Given the description of an element on the screen output the (x, y) to click on. 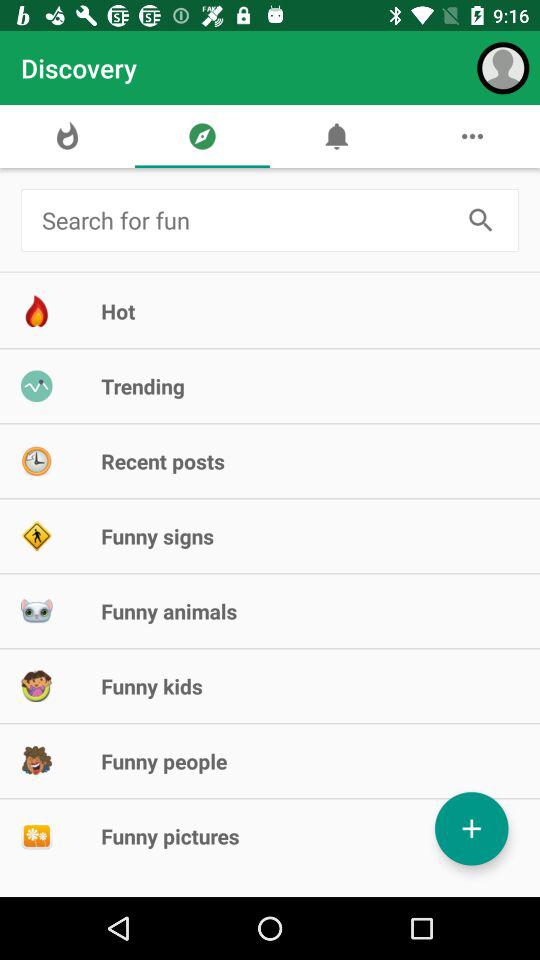
more (471, 828)
